Given the description of an element on the screen output the (x, y) to click on. 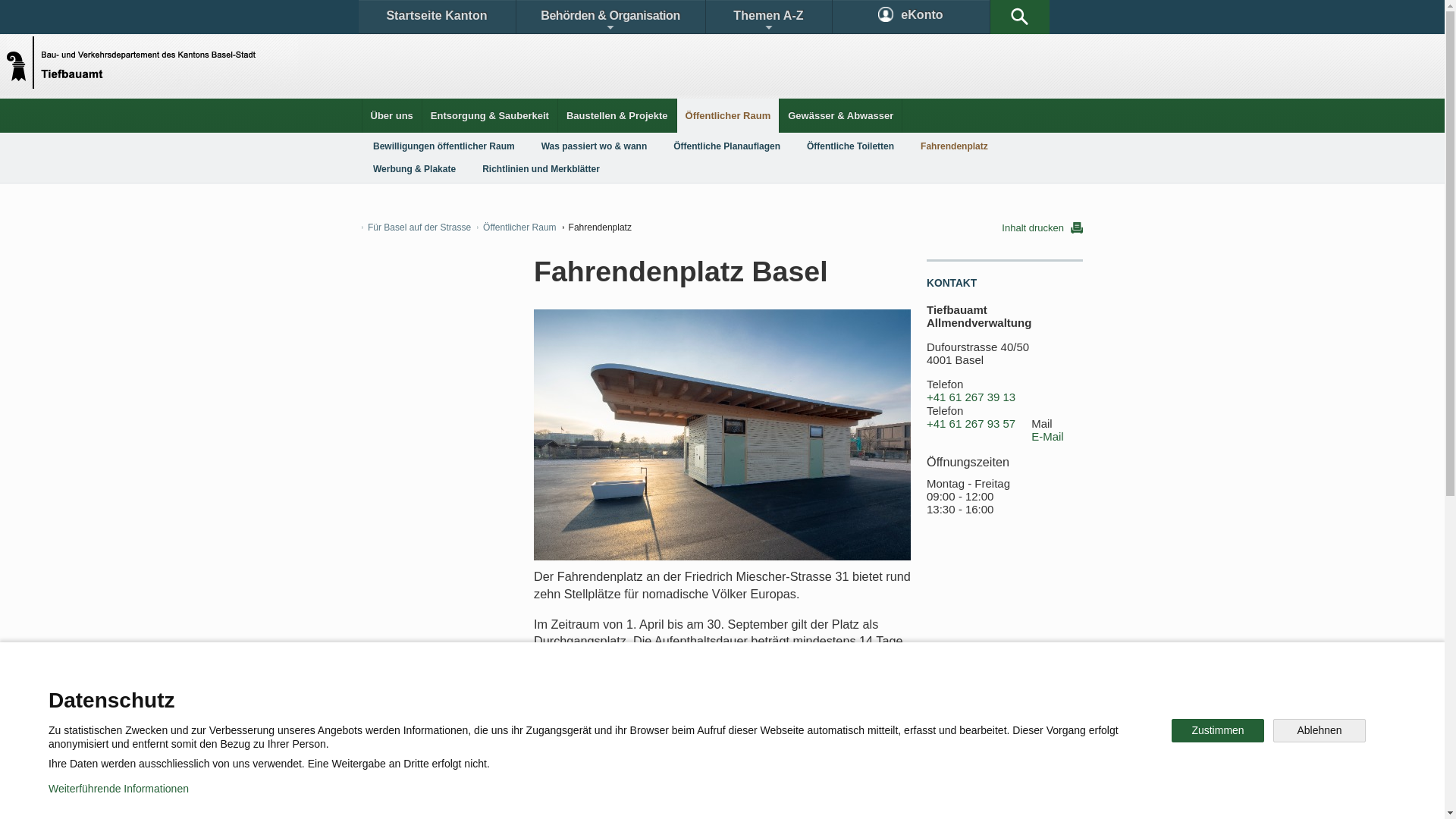
+41 61 267 93 57 Element type: text (970, 423)
Statistiken Element type: text (794, 693)
Ablehnen Element type: text (1319, 730)
Zur mobilen Ansicht Element type: text (752, 796)
Baustellen & Projekte Element type: text (617, 115)
Bewilligungen Element type: text (611, 693)
eKonto Element type: text (910, 17)
Zustimmen Element type: text (1217, 730)
Instagram Element type: text (738, 746)
E-Mail Element type: text (1047, 436)
Was passiert wo & wann Element type: text (594, 145)
Gesetze Element type: text (703, 693)
Kontakt Element type: text (406, 693)
Impressum Element type: text (648, 796)
Twitter Element type: text (642, 746)
Entsorgung & Sauberkeit Element type: text (489, 115)
Stadtplan & Karten Element type: text (504, 693)
+41 61 267 39 13 Element type: text (970, 397)
Nutzungsregelungen Element type: text (542, 796)
Werbung & Plakate Element type: text (414, 168)
Bild & Multimedia Element type: text (1015, 693)
Themen A-Z Element type: text (768, 17)
Facebook Element type: text (547, 746)
Startseite Kanton Element type: text (435, 17)
Publikationen Element type: text (901, 693)
Inhalt drucken Element type: text (1041, 227)
